Given the description of an element on the screen output the (x, y) to click on. 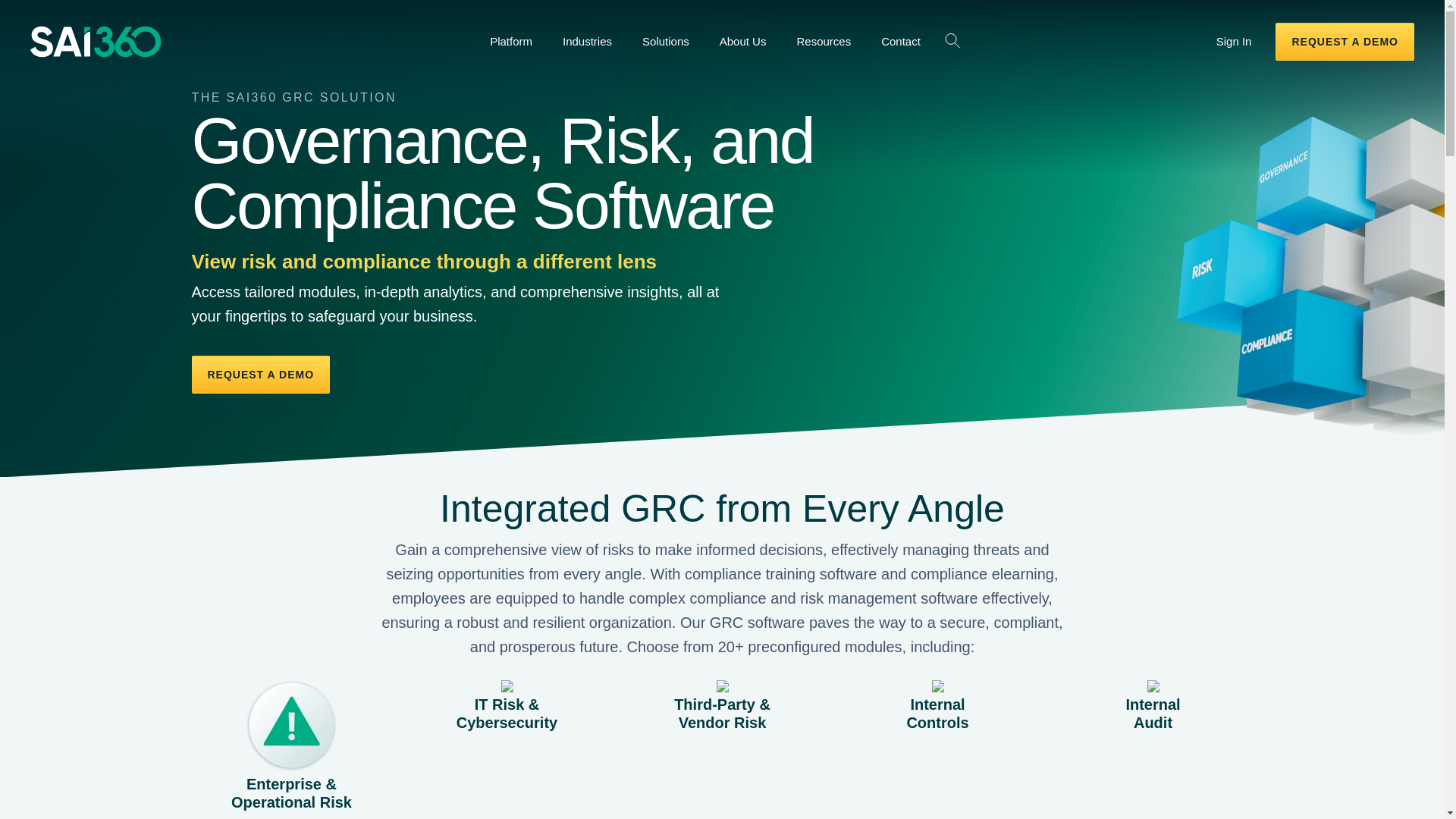
Solutions (665, 41)
About Us (743, 41)
SAI360 (202, 41)
Industries (586, 41)
Resources (823, 41)
Platform (510, 41)
